Given the description of an element on the screen output the (x, y) to click on. 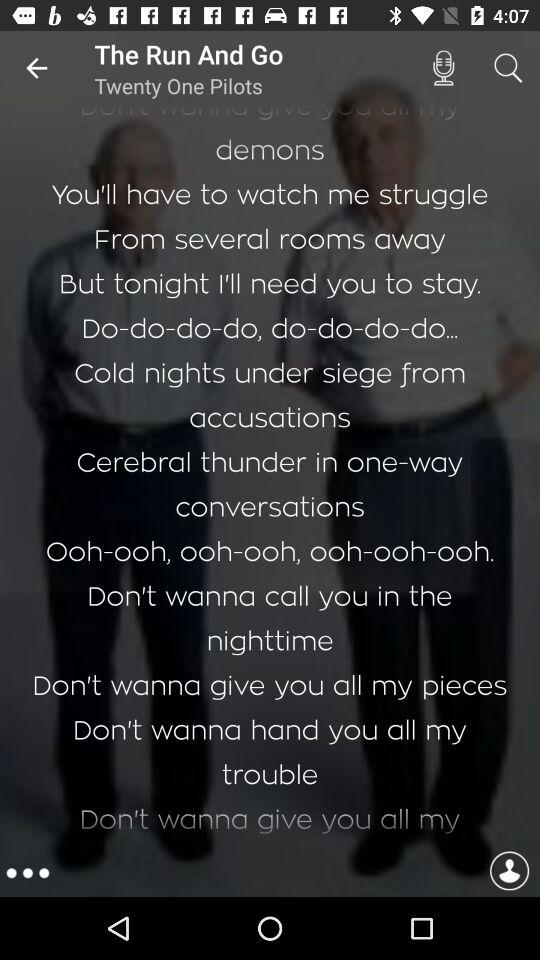
go to profile (509, 873)
